Given the description of an element on the screen output the (x, y) to click on. 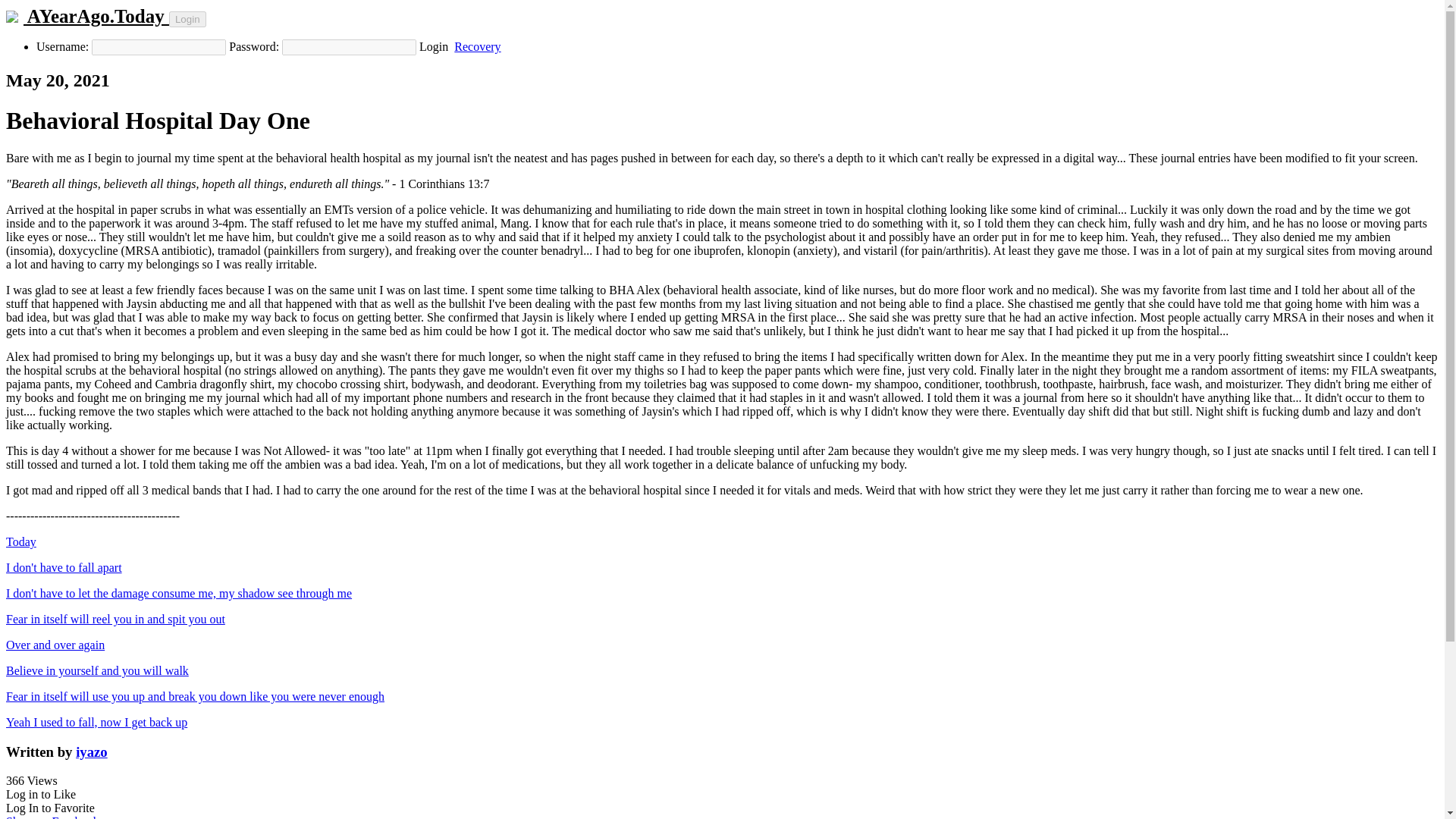
Believe in yourself and you will walk (97, 670)
Login (187, 19)
Fear in itself will reel you in and spit you out (115, 618)
Yeah I used to fall, now I get back up (96, 721)
iyazo (91, 750)
Login (433, 46)
Share on Facebook (52, 816)
Recovery (477, 46)
Today (20, 541)
I don't have to fall apart (63, 567)
AYearAgo.Today (86, 15)
Over and over again (54, 644)
